Given the description of an element on the screen output the (x, y) to click on. 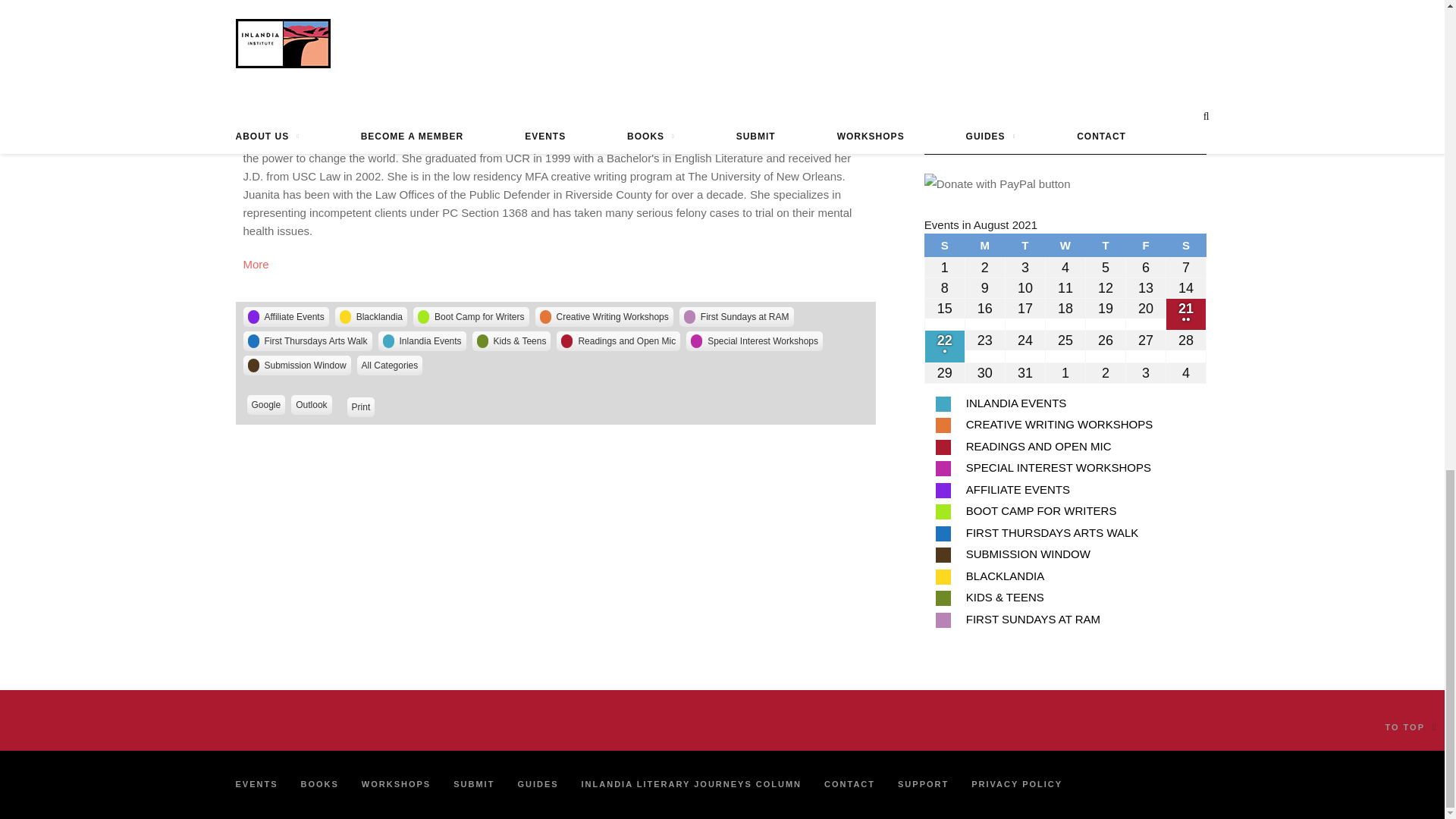
PayPal - The safer, easier way to pay online! (997, 183)
TO TOP (1410, 727)
